Given the description of an element on the screen output the (x, y) to click on. 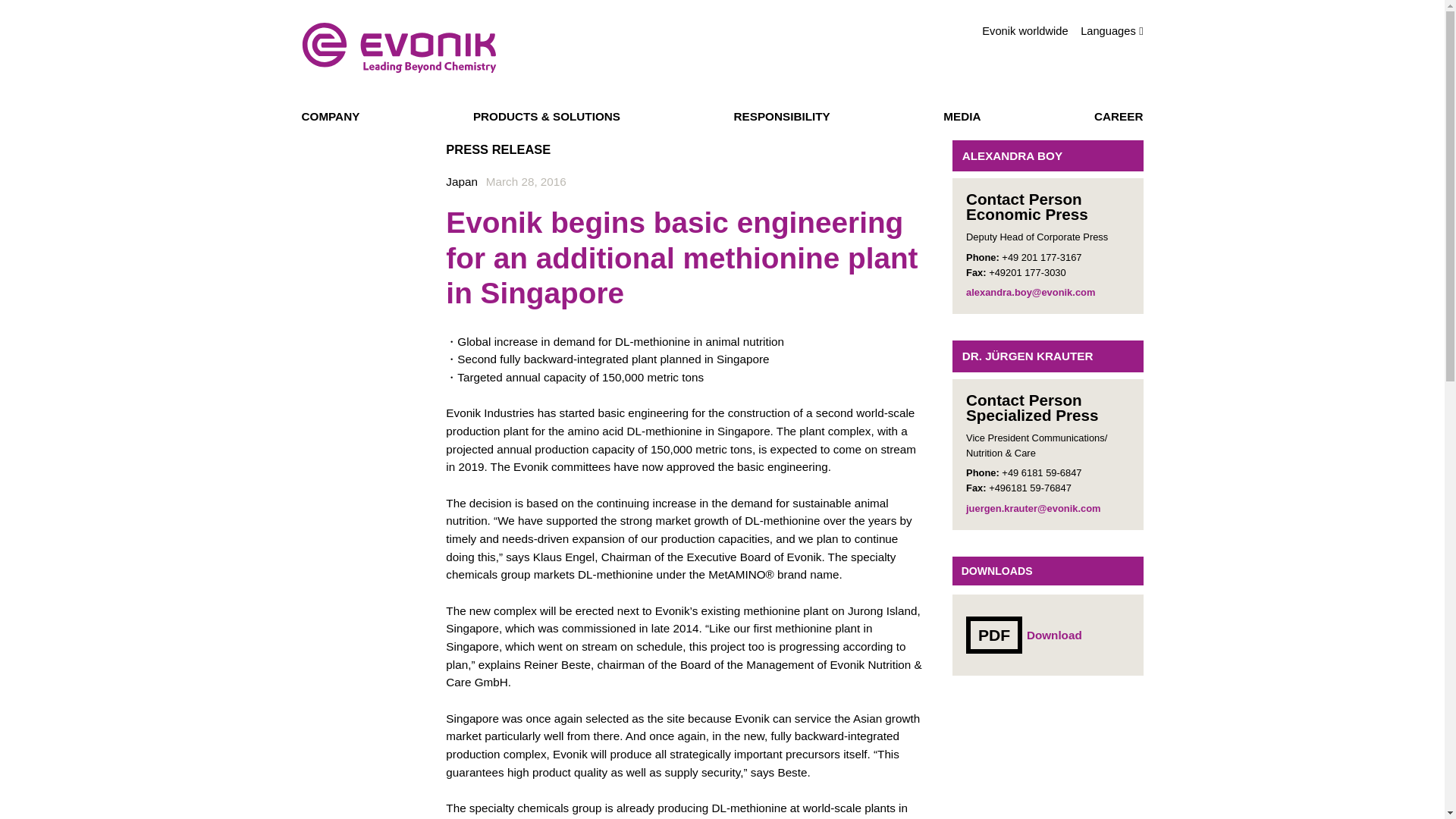
RESPONSIBILITY (1023, 634)
Languages (781, 118)
Career (1111, 30)
CAREER (1118, 118)
COMPANY (1118, 118)
Evonik worldwide (330, 118)
Company (1024, 31)
Evonik Industries AG (330, 118)
Responsibility (398, 47)
Media (781, 118)
MEDIA (961, 118)
Evonik worldwide (961, 118)
